Given the description of an element on the screen output the (x, y) to click on. 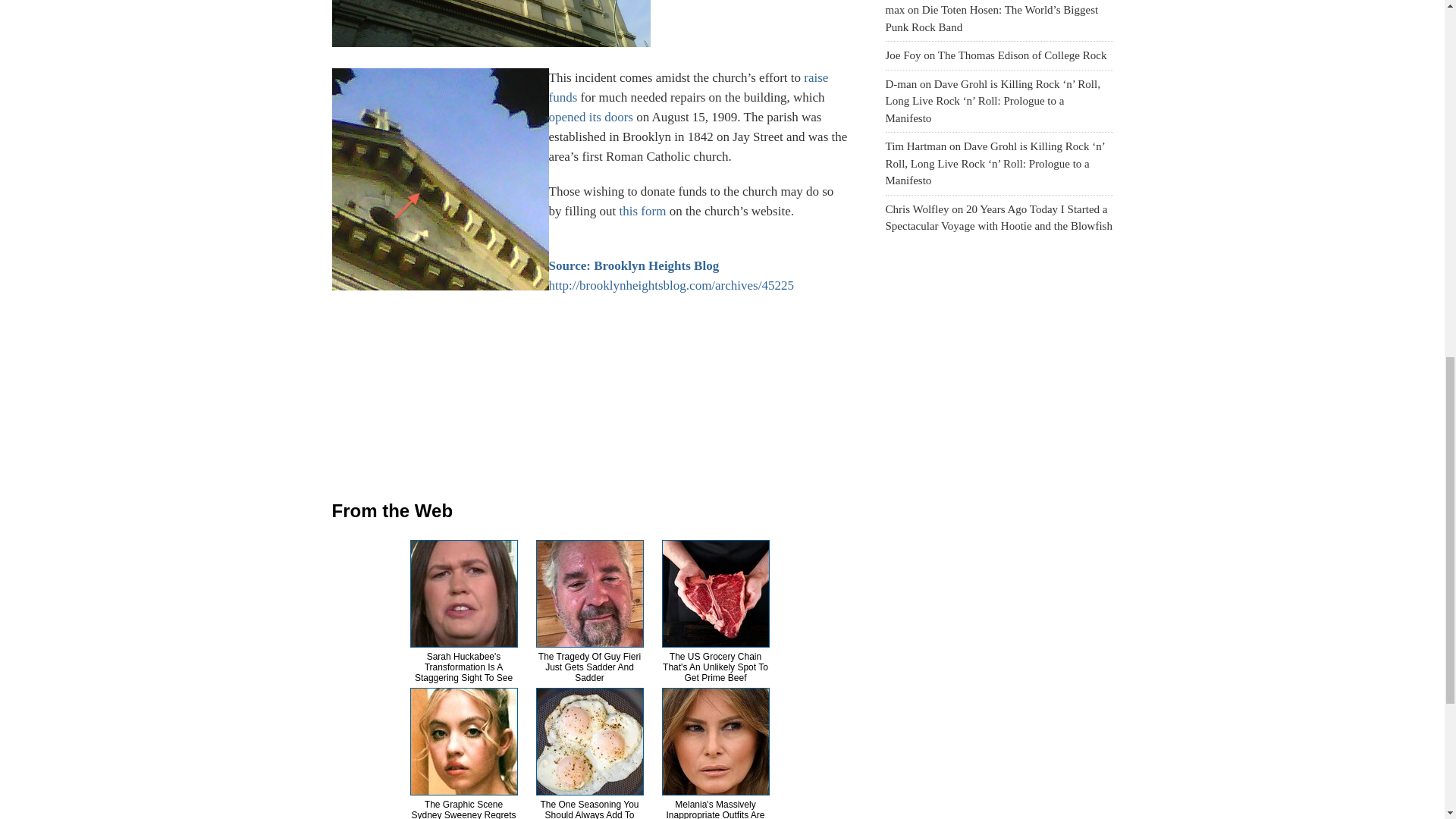
Source: Brooklyn Heights Blog (633, 265)
The One Seasoning You Should Always Add To Your Fried Eggs (589, 809)
The Graphic Scene Sydney Sweeney Regrets Filming To Her Core (462, 809)
raise funds (688, 87)
opened its doors (590, 116)
this form (644, 210)
Sarah Huckabee's Transformation Is A Staggering Sight To See (463, 667)
The Tragedy Of Guy Fieri Just Gets Sadder And Sadder (589, 667)
